Given the description of an element on the screen output the (x, y) to click on. 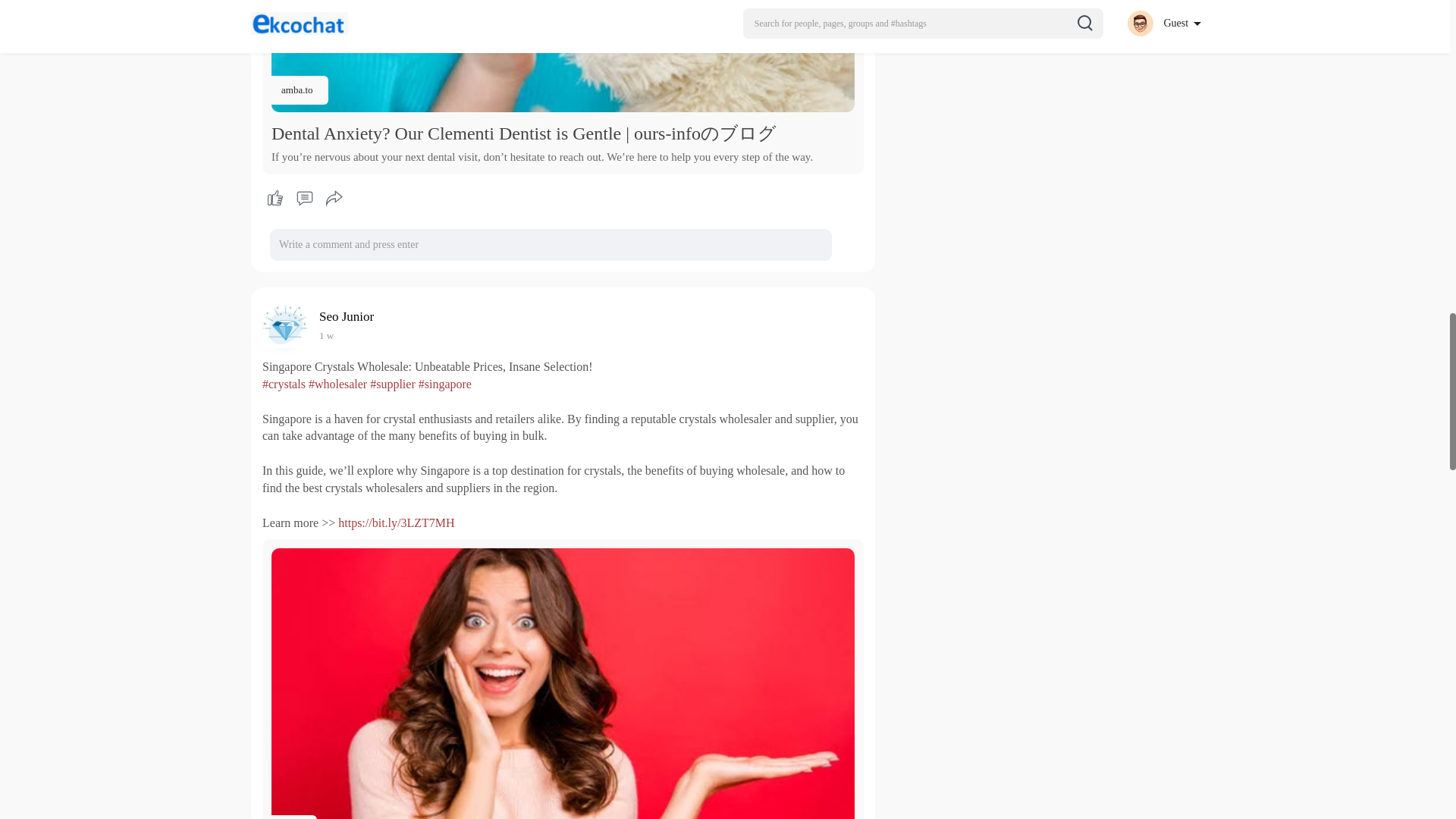
Seo Junior (348, 316)
1 w (325, 335)
Share (334, 198)
Comments (304, 198)
